Given the description of an element on the screen output the (x, y) to click on. 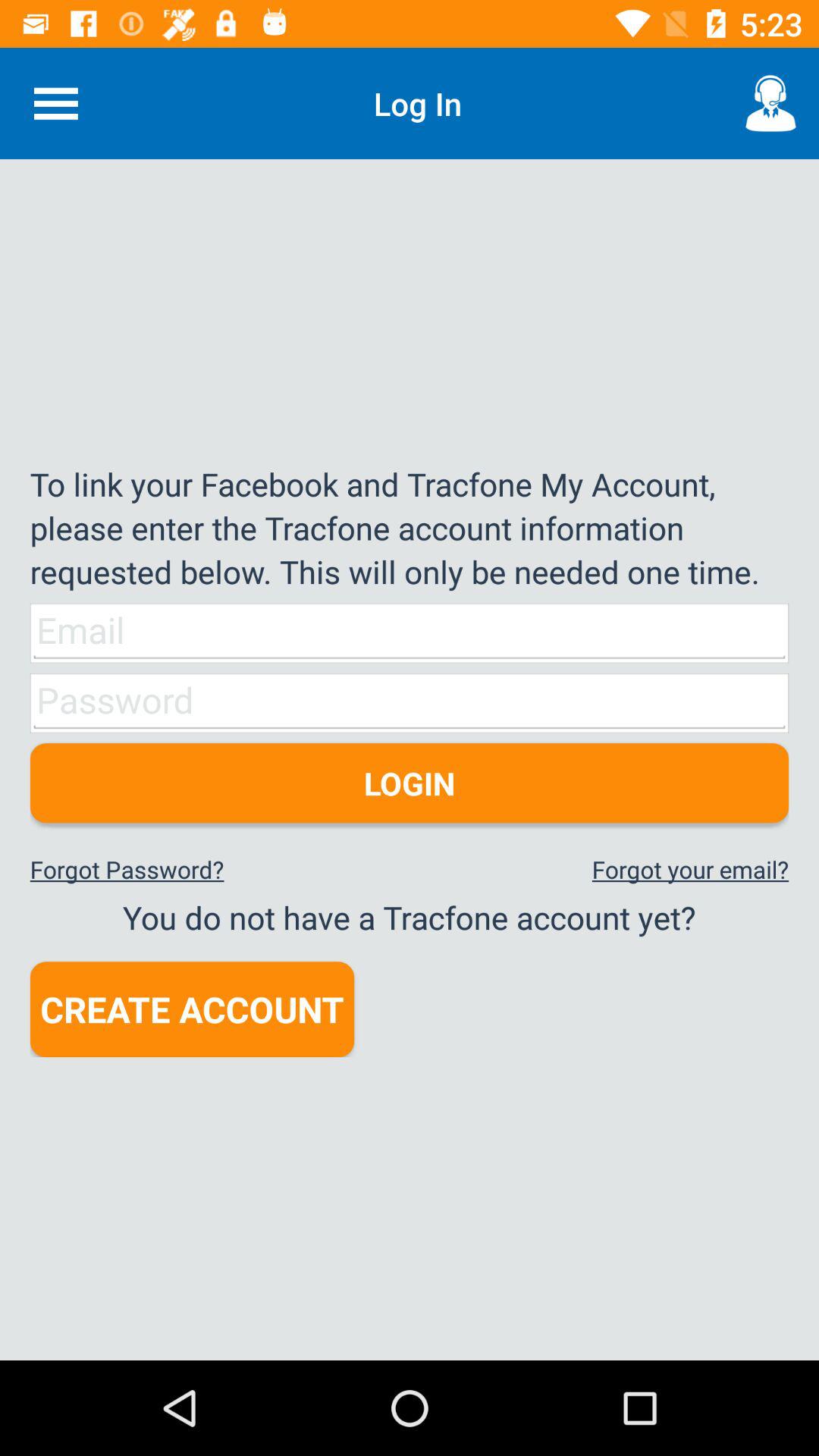
open the item at the top left corner (55, 103)
